Given the description of an element on the screen output the (x, y) to click on. 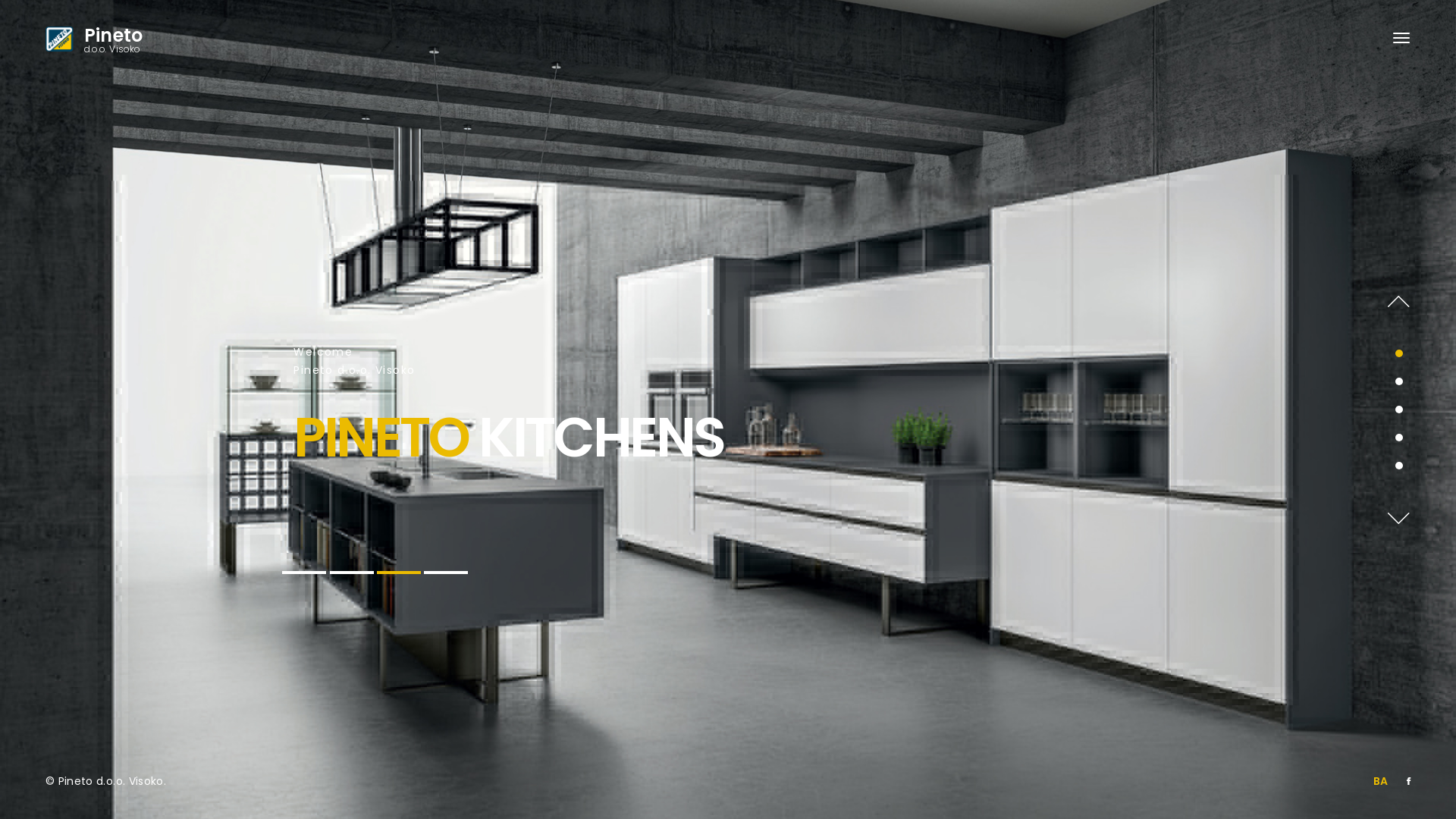
BA Element type: text (1380, 781)
Pineto
d.o.o. Visoko Element type: text (140, 41)
